Given the description of an element on the screen output the (x, y) to click on. 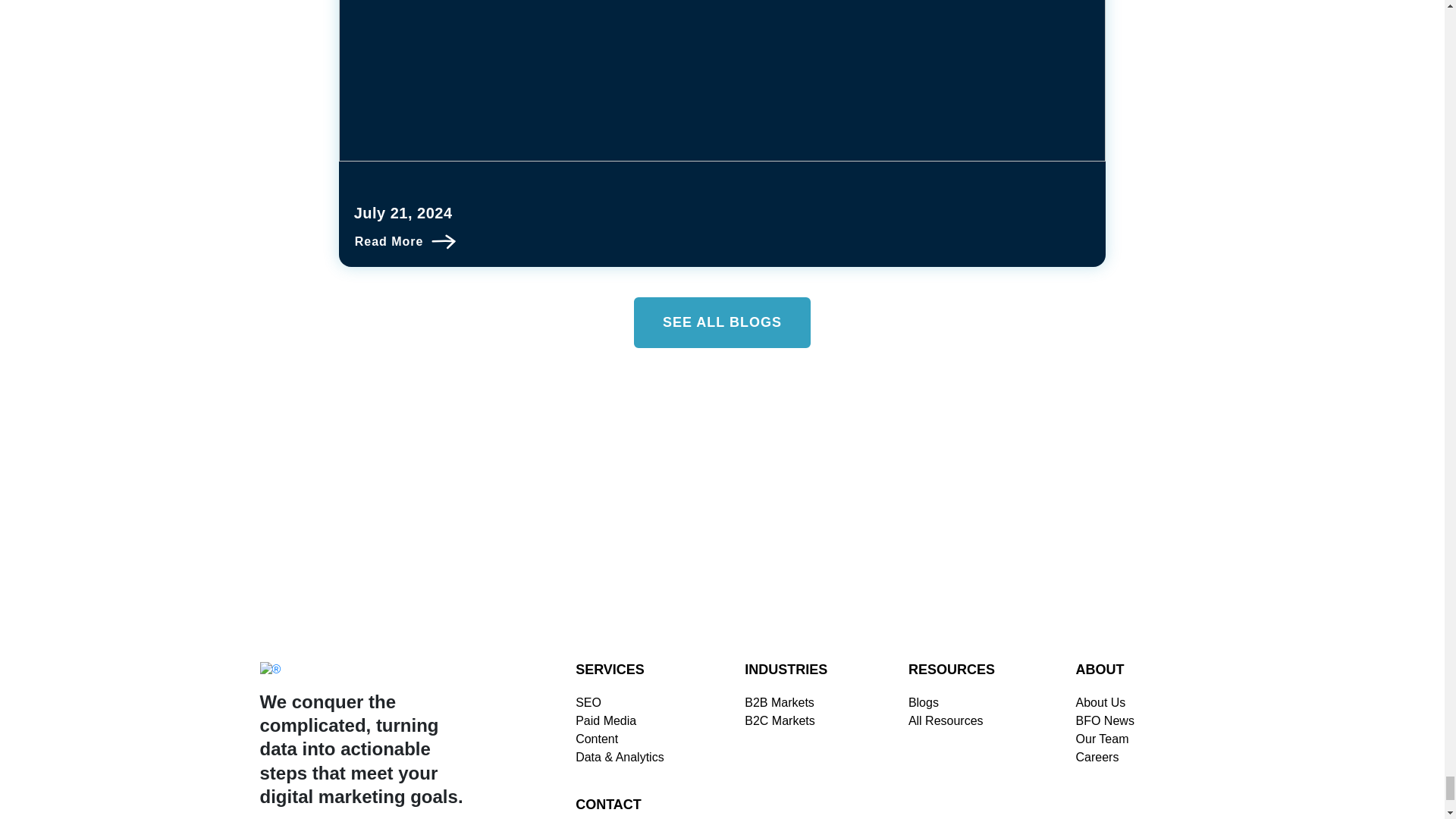
SEE ALL BLOGS (721, 322)
